Given the description of an element on the screen output the (x, y) to click on. 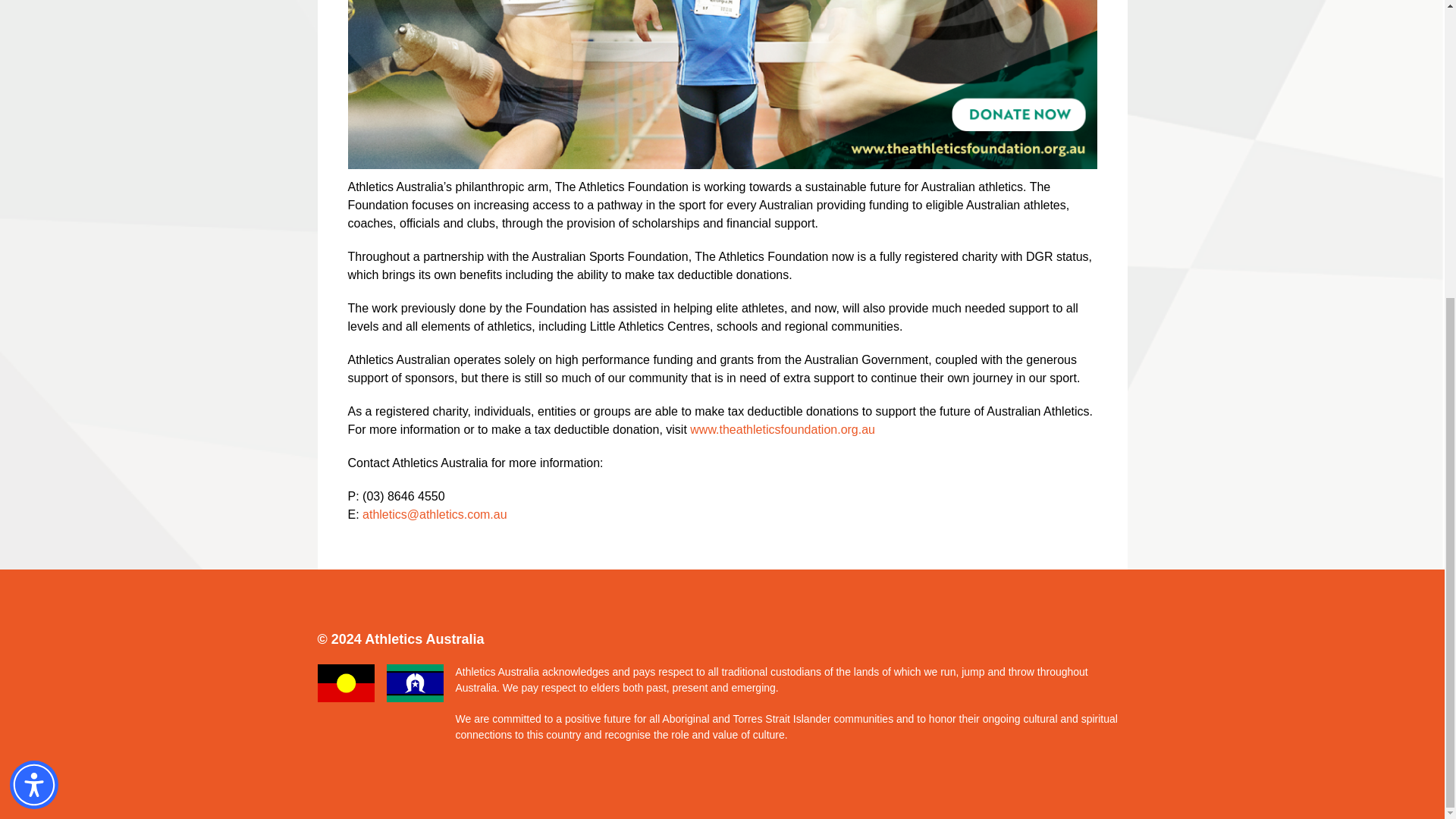
Accessibility Menu (34, 324)
